Given the description of an element on the screen output the (x, y) to click on. 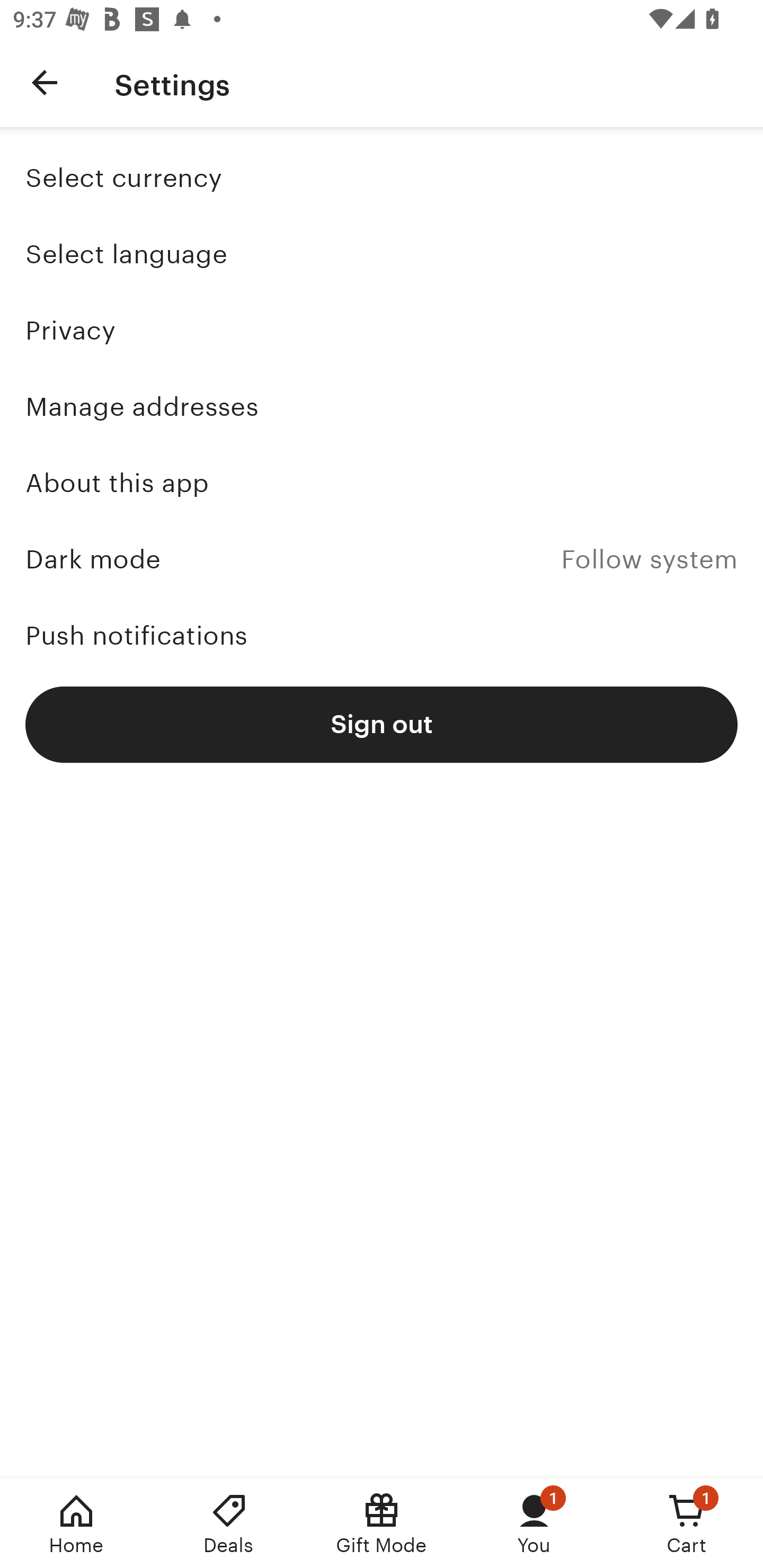
Navigate up (44, 82)
Select currency (381, 177)
Select language (381, 253)
Privacy (381, 329)
Manage addresses (381, 406)
About this app (381, 482)
Dark mode Follow system (381, 558)
Push notifications (381, 635)
Sign out (381, 724)
Home (76, 1523)
Deals (228, 1523)
Gift Mode (381, 1523)
Cart, 1 new notification Cart (686, 1523)
